Given the description of an element on the screen output the (x, y) to click on. 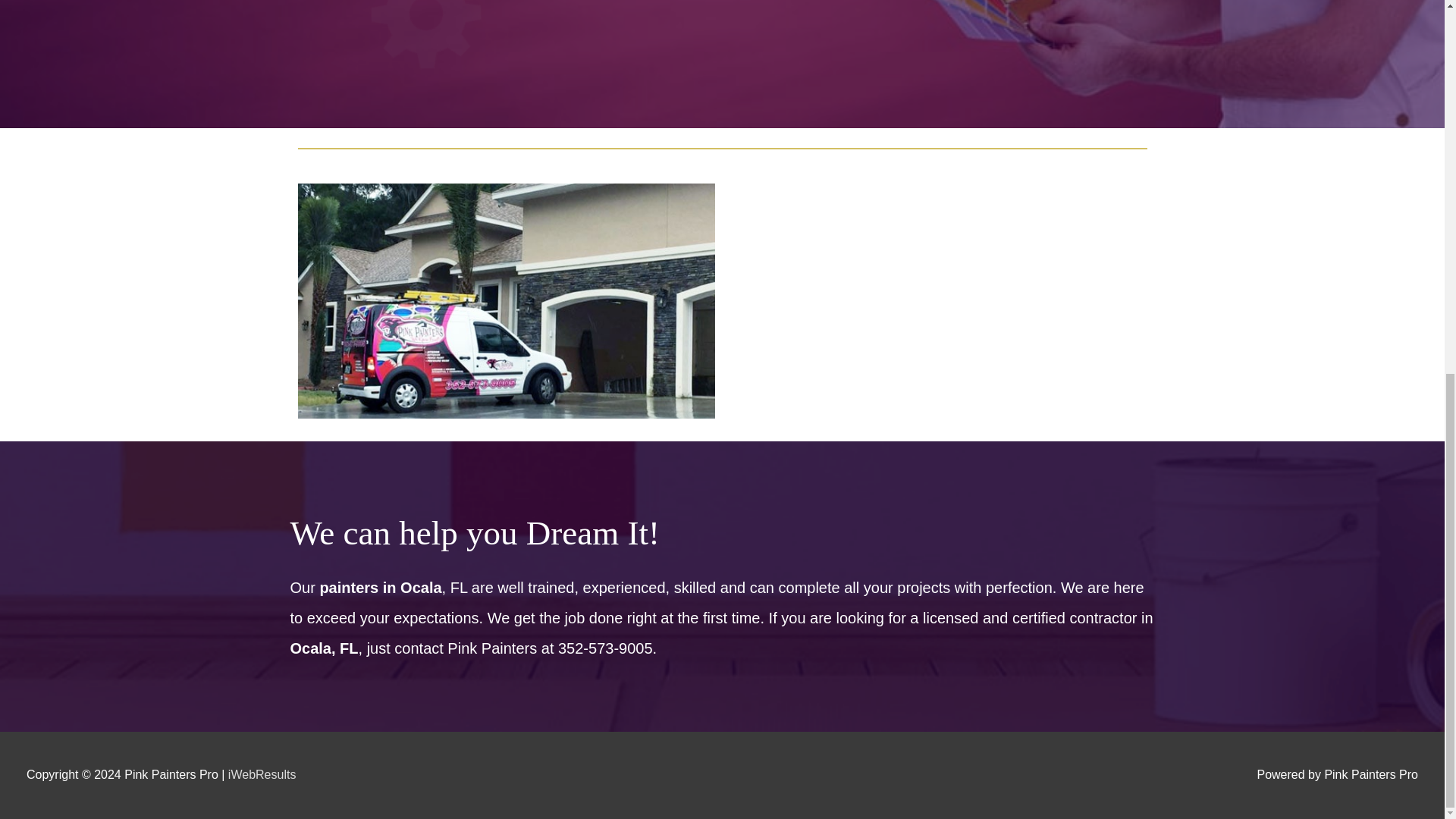
iWebResults (262, 774)
352-573-9005. (606, 647)
